Given the description of an element on the screen output the (x, y) to click on. 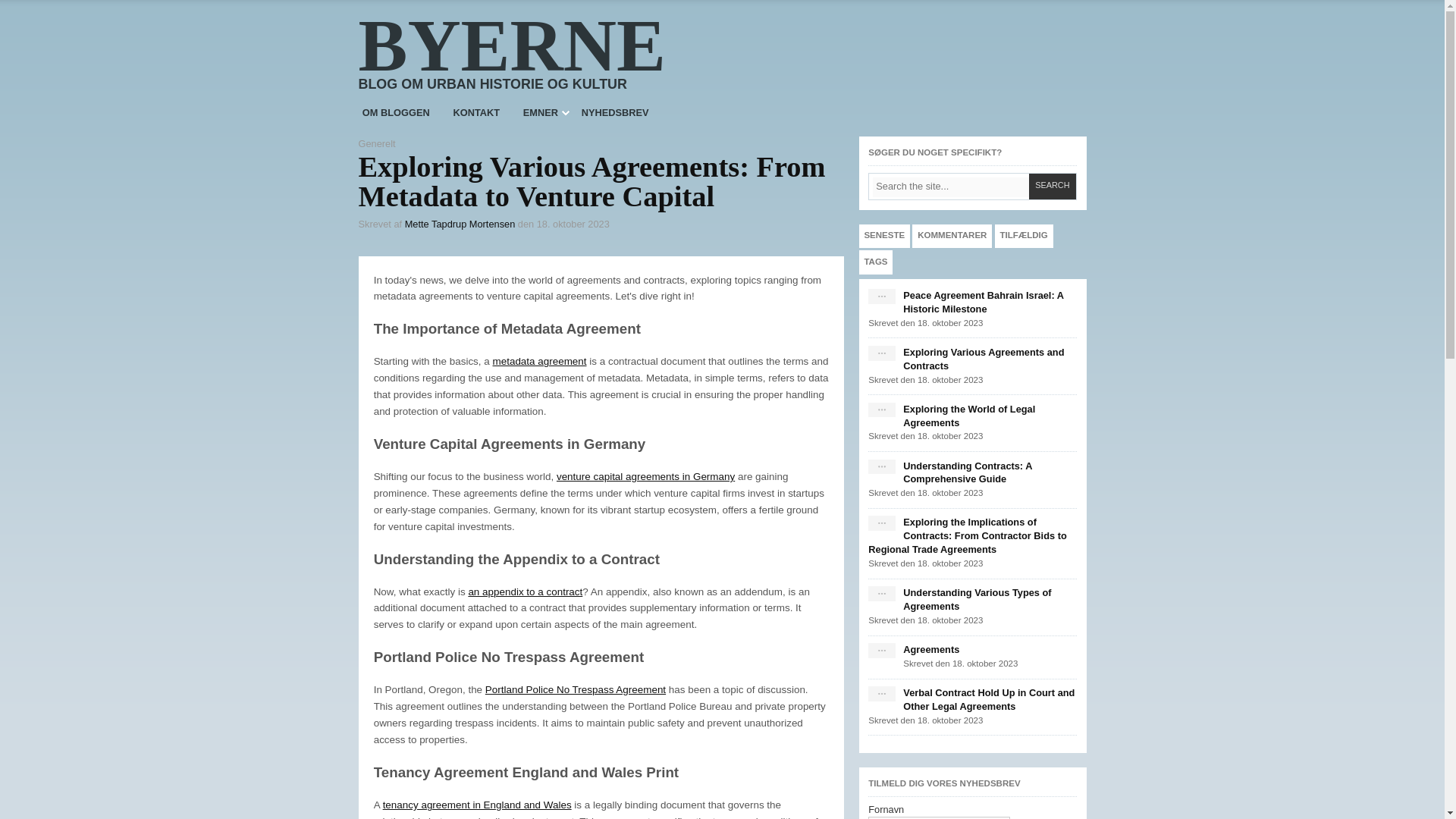
Exploring the World of Legal Agreements (881, 411)
EMNER (540, 113)
Verbal Contract Hold Up in Court and Other Legal Agreements (881, 694)
an appendix to a contract (524, 591)
TAGS (875, 261)
Agreements (881, 650)
Generelt (376, 143)
Mette Tapdrup Mortensen (459, 224)
Understanding Contracts: A Comprehensive Guide (881, 467)
NYHEDSBREV (615, 113)
